Given the description of an element on the screen output the (x, y) to click on. 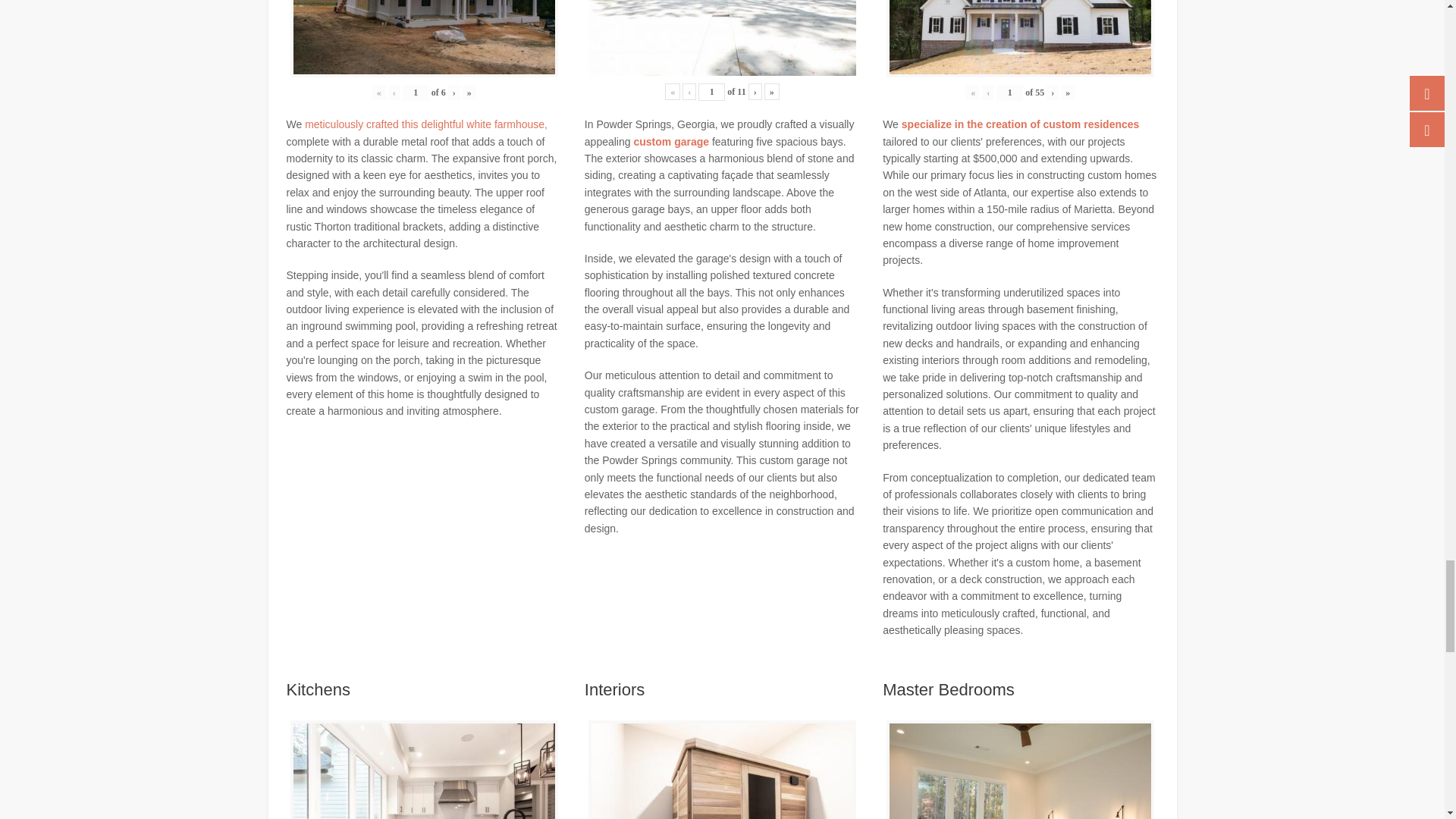
1 (711, 91)
1 (416, 92)
